Given the description of an element on the screen output the (x, y) to click on. 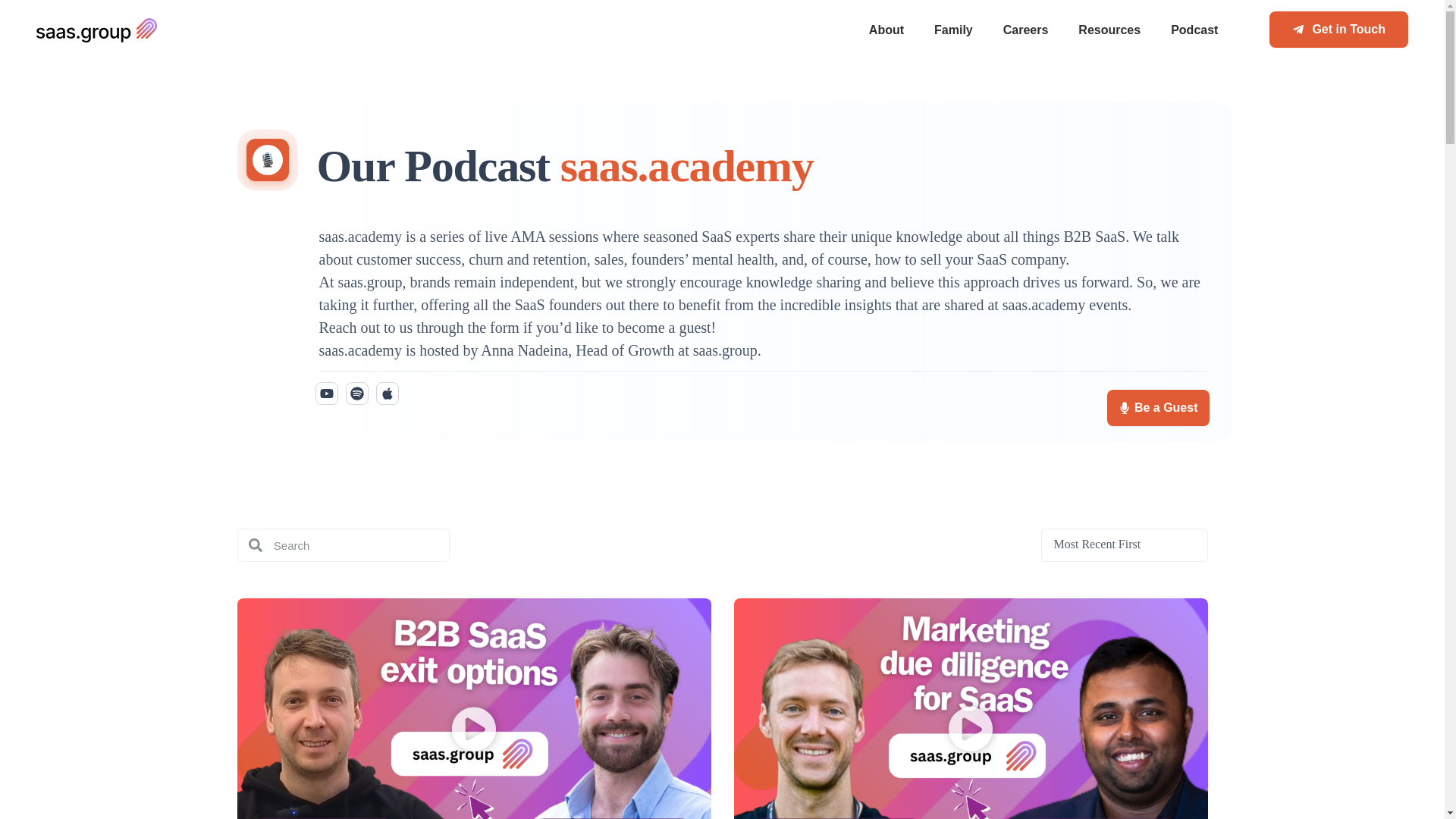
logo (96, 30)
Careers (1026, 30)
About (885, 30)
Resources (1109, 30)
Family (953, 30)
Be a Guest (1157, 407)
Get in Touch (1338, 29)
Podcast (1194, 30)
